Given the description of an element on the screen output the (x, y) to click on. 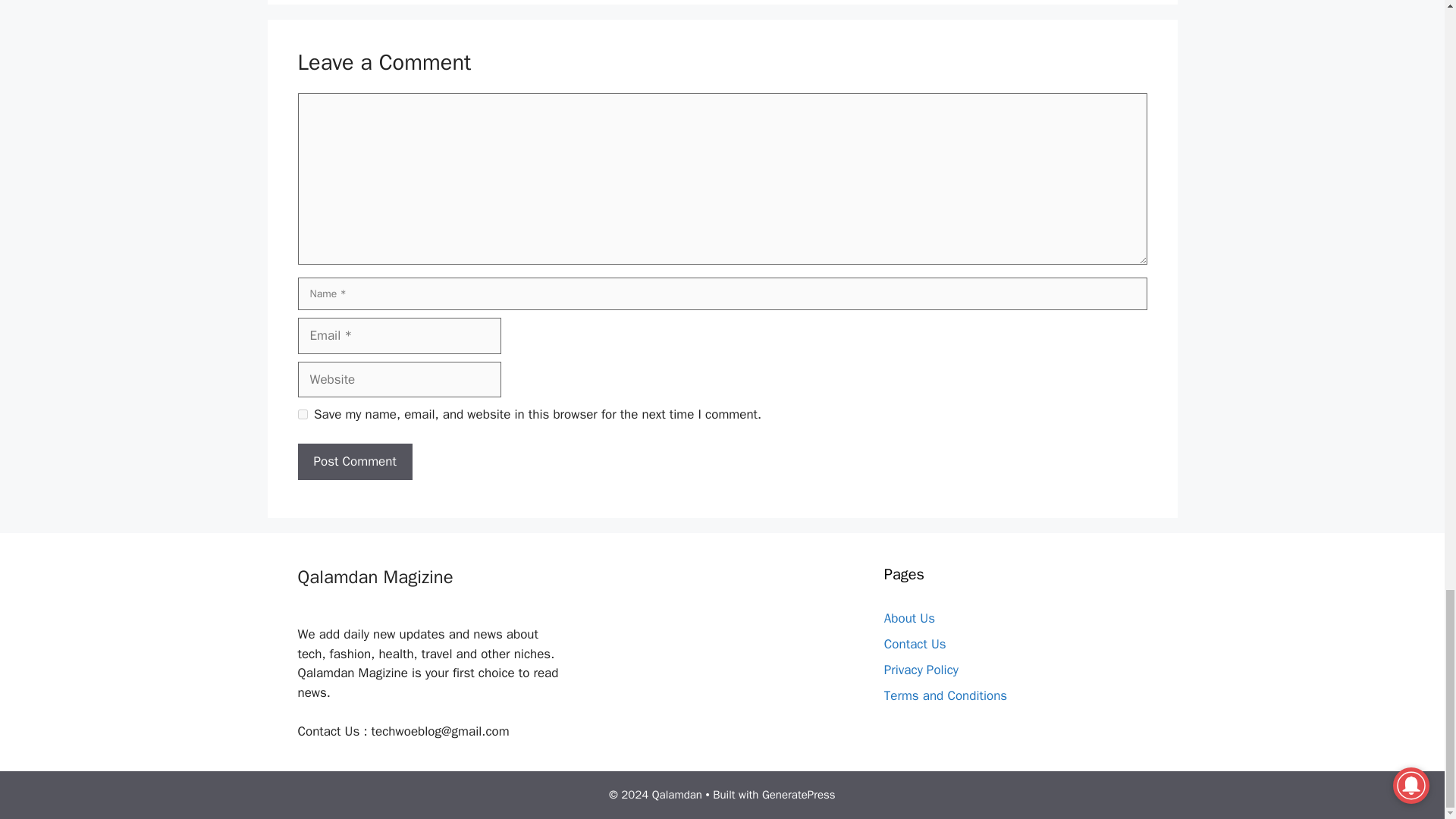
Privacy Policy (920, 669)
About Us (908, 618)
Contact Us (914, 643)
Terms and Conditions (945, 695)
GeneratePress (798, 794)
yes (302, 414)
Post Comment (354, 461)
Post Comment (354, 461)
